Given the description of an element on the screen output the (x, y) to click on. 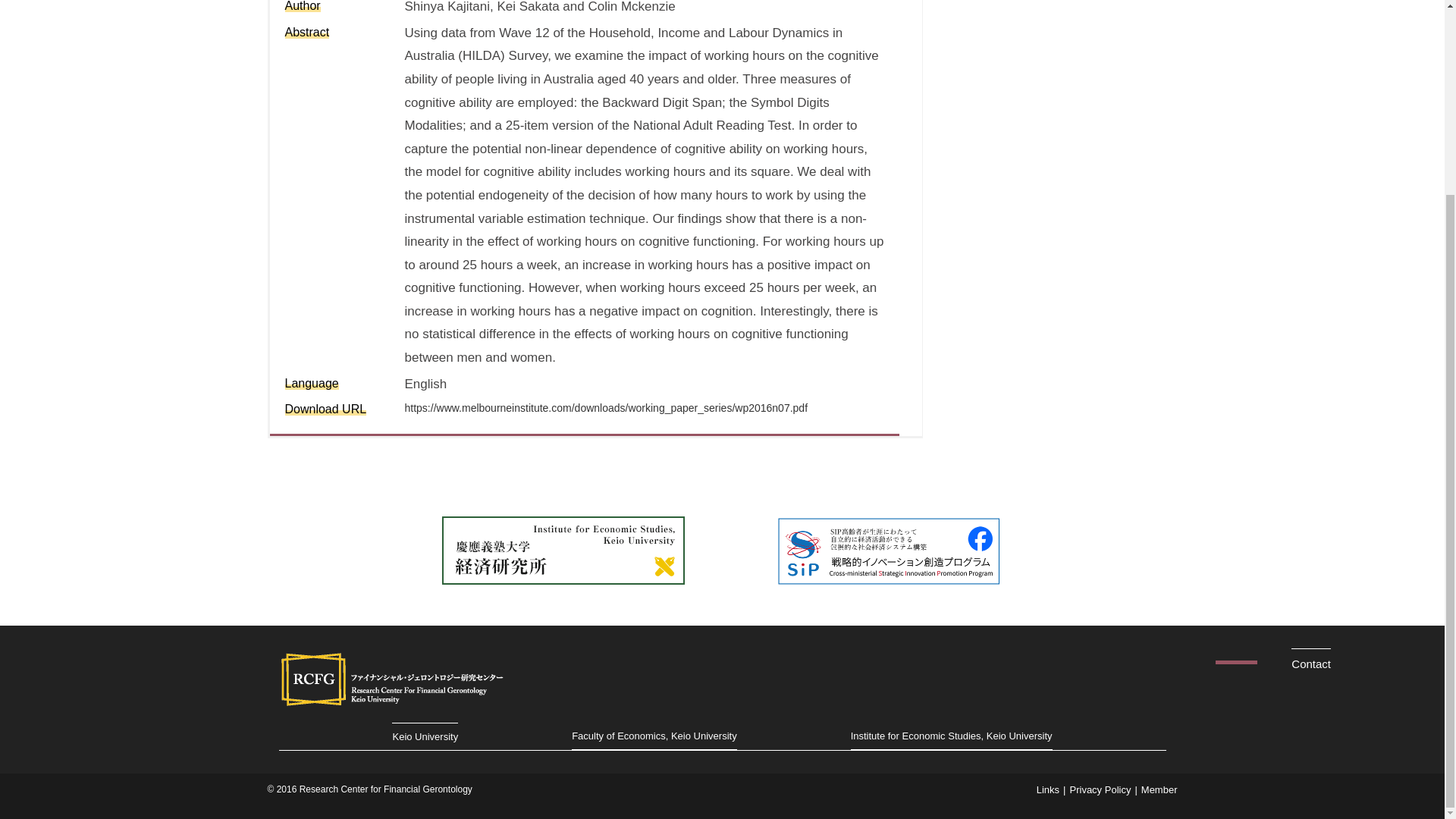
Contact (1310, 663)
Keio University (424, 736)
Institute for Economic Studies, Keio University (951, 736)
Links (1047, 789)
Faculty of Economics, Keio University (654, 736)
Privacy Policy (1099, 789)
Member (1159, 789)
